Given the description of an element on the screen output the (x, y) to click on. 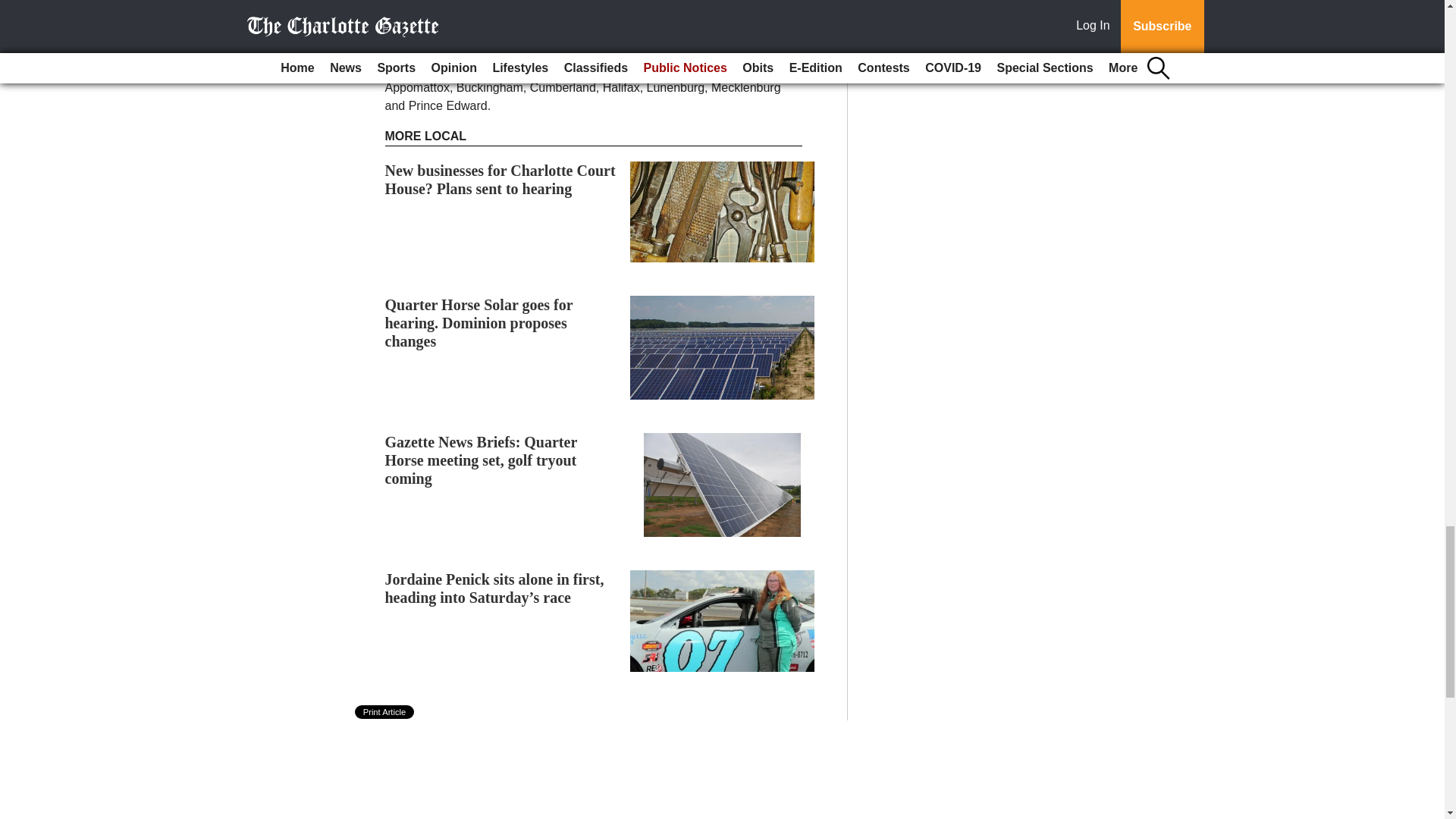
Print Article (384, 712)
